Given the description of an element on the screen output the (x, y) to click on. 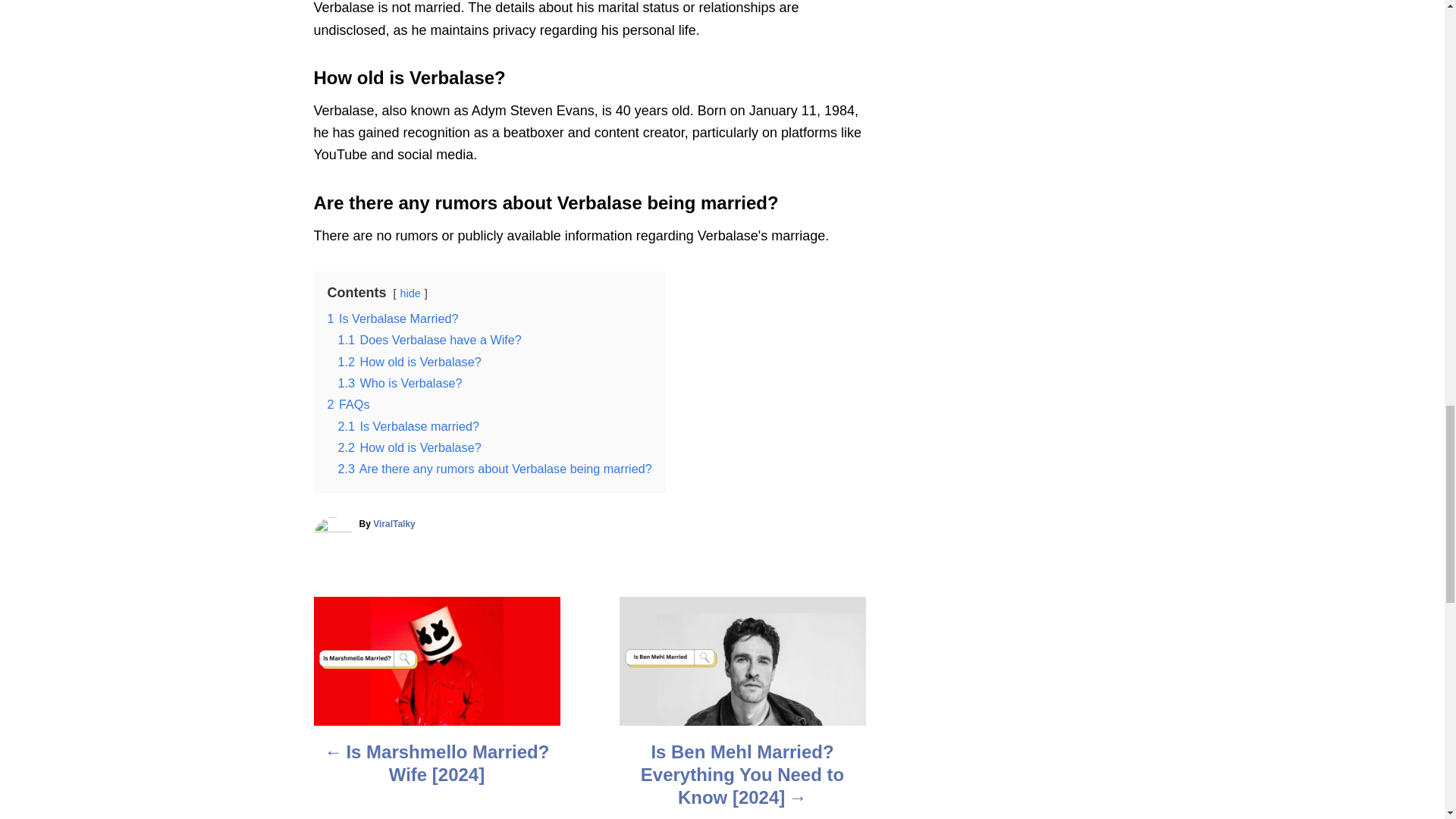
1.2 How old is Verbalase? (409, 361)
hide (410, 293)
1 Is Verbalase Married? (392, 318)
2.2 How old is Verbalase? (409, 447)
2.3 Are there any rumors about Verbalase being married? (494, 468)
2 FAQs (348, 404)
1.3 Who is Verbalase? (400, 382)
2.1 Is Verbalase married? (408, 426)
ViralTalky (393, 523)
1.1 Does Verbalase have a Wife? (429, 339)
